Given the description of an element on the screen output the (x, y) to click on. 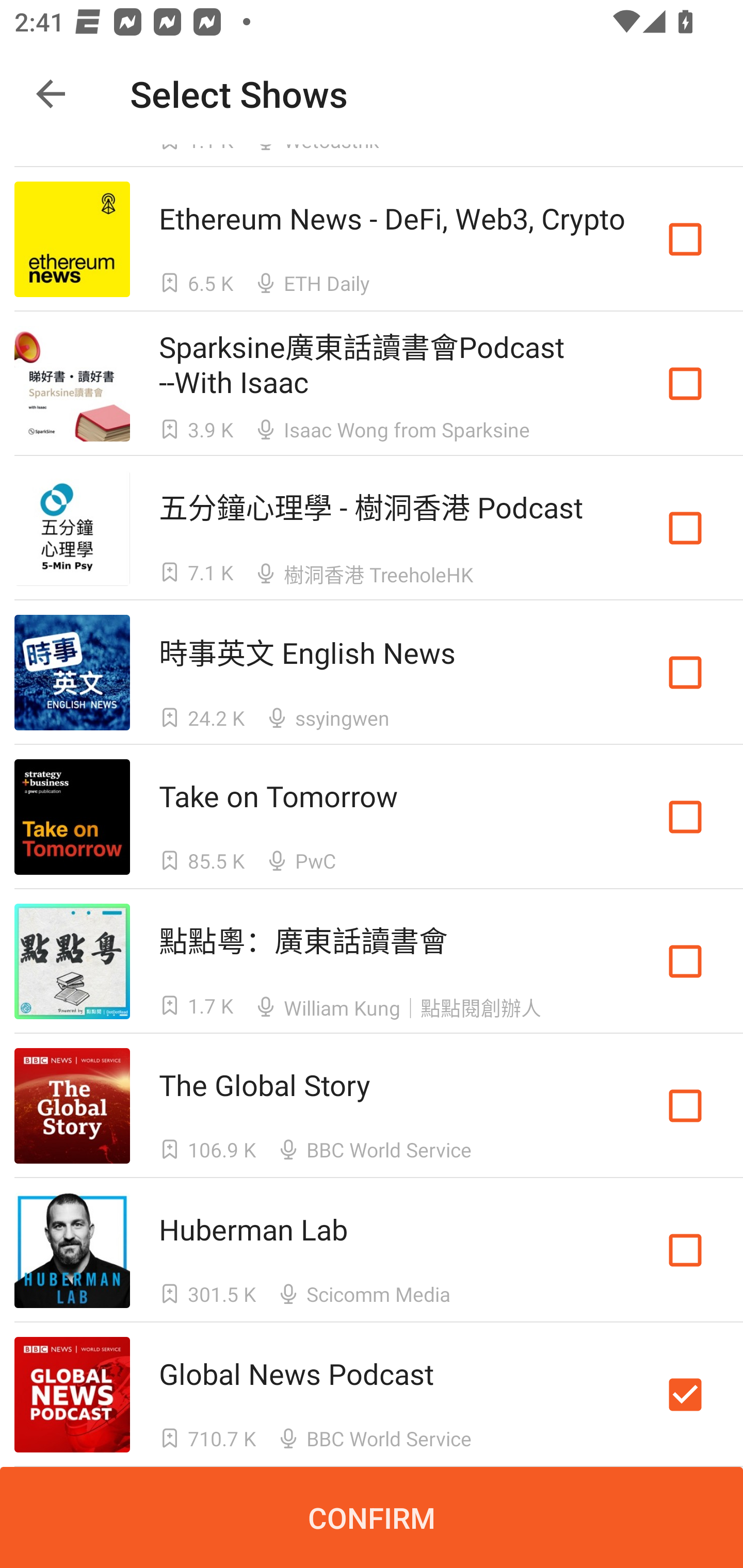
Navigate up (50, 93)
Take on Tomorrow Take on Tomorrow  85.5 K  PwC (371, 816)
CONFIRM (371, 1517)
